Given the description of an element on the screen output the (x, y) to click on. 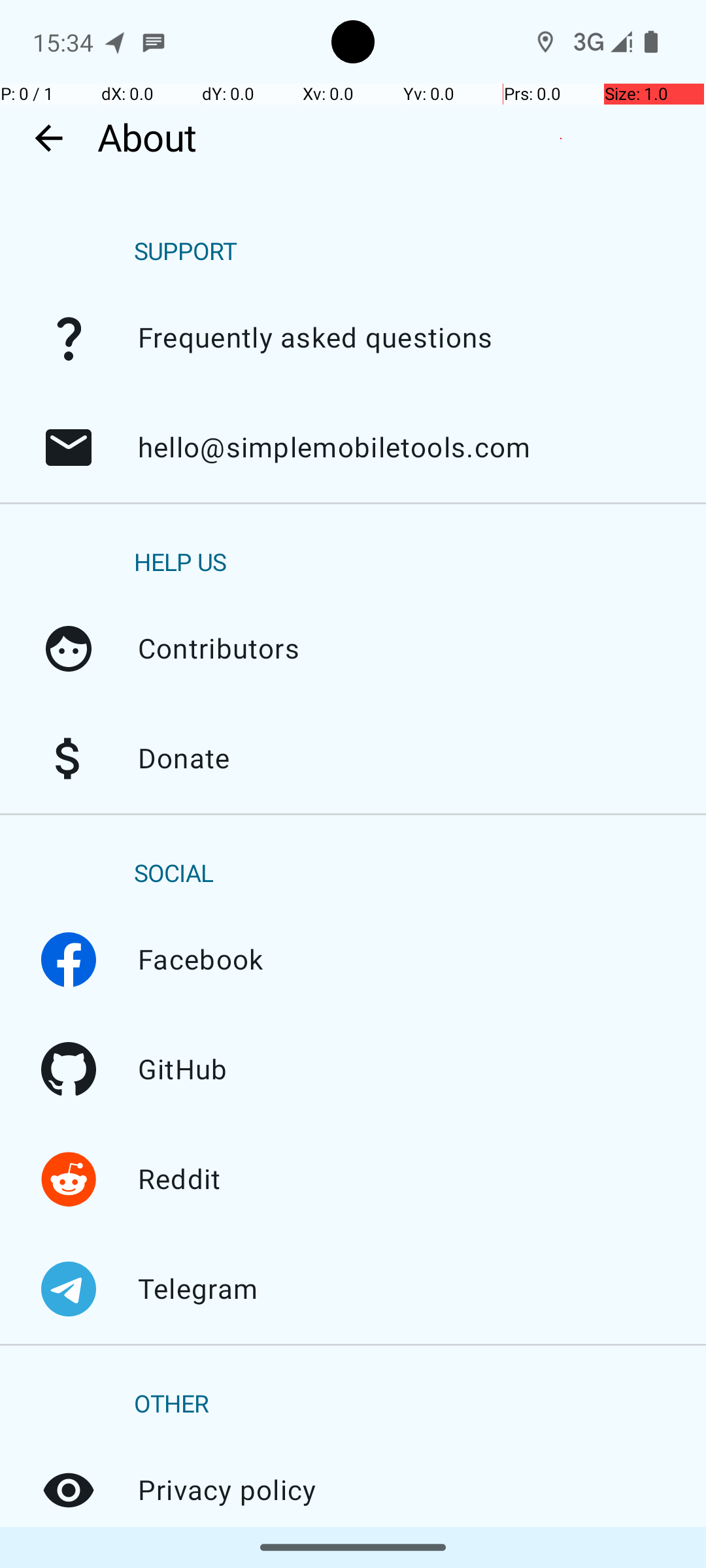
SUPPORT Element type: android.widget.TextView (185, 251)
HELP US Element type: android.widget.TextView (180, 562)
SOCIAL Element type: android.widget.TextView (173, 873)
OTHER Element type: android.widget.TextView (171, 1404)
Frequently asked questions Element type: android.view.View (68, 337)
hello@simplemobiletools.com Element type: android.view.View (68, 447)
Donate Element type: android.view.View (68, 758)
GitHub Element type: android.view.View (68, 1069)
Reddit Element type: android.view.View (68, 1178)
Telegram Element type: android.view.View (68, 1288)
Privacy policy Element type: android.view.View (68, 1489)
SMS Messenger notification: Noa Mohamed Element type: android.widget.ImageView (153, 41)
